Given the description of an element on the screen output the (x, y) to click on. 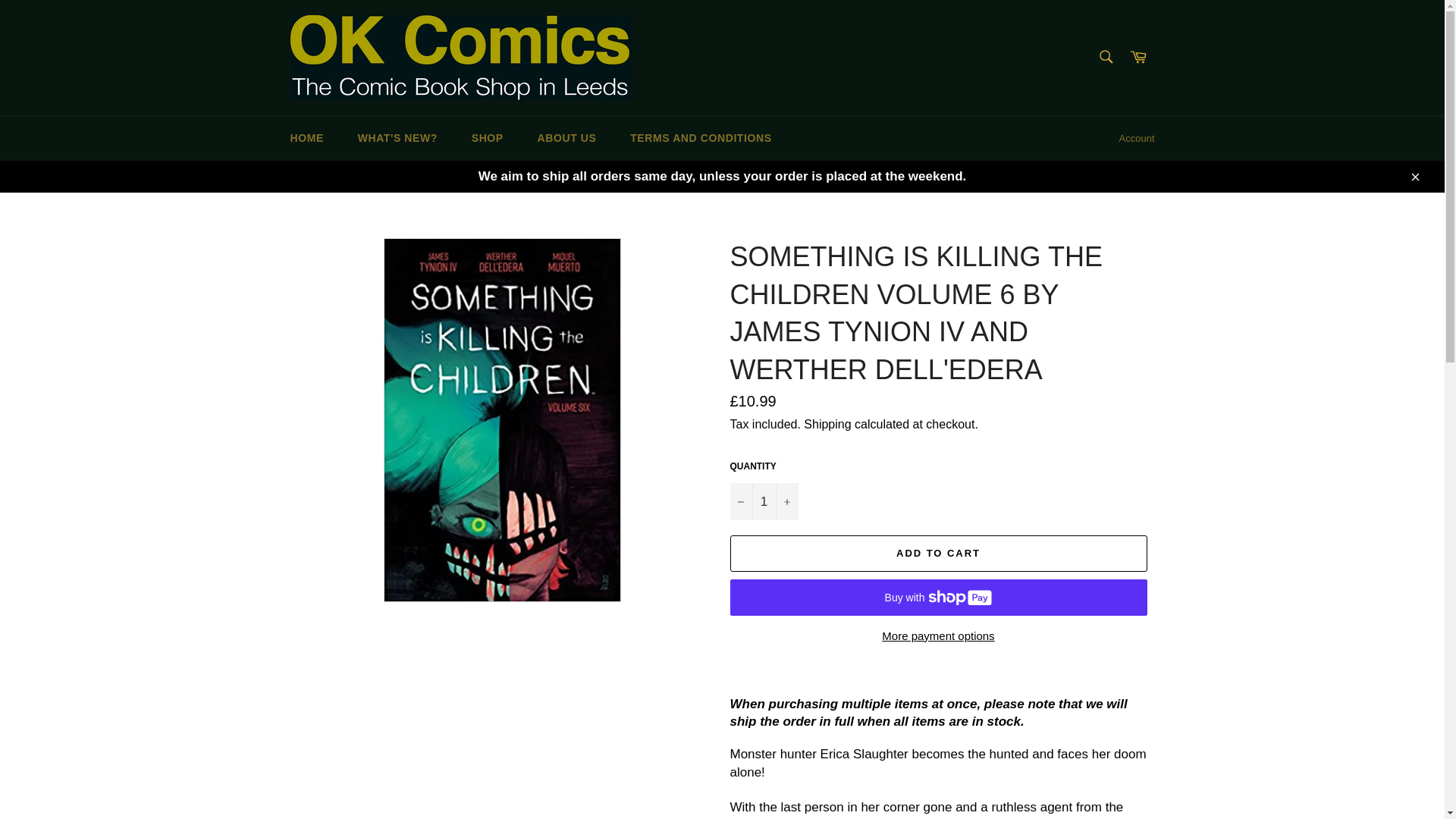
SHOP (487, 138)
Account (1136, 138)
Search (1104, 56)
Cart (1138, 57)
Close (1414, 175)
ADD TO CART (938, 553)
WHAT'S NEW? (397, 138)
ABOUT US (566, 138)
TERMS AND CONDITIONS (700, 138)
HOME (306, 138)
1 (763, 501)
Shipping (826, 423)
More payment options (938, 636)
